Given the description of an element on the screen output the (x, y) to click on. 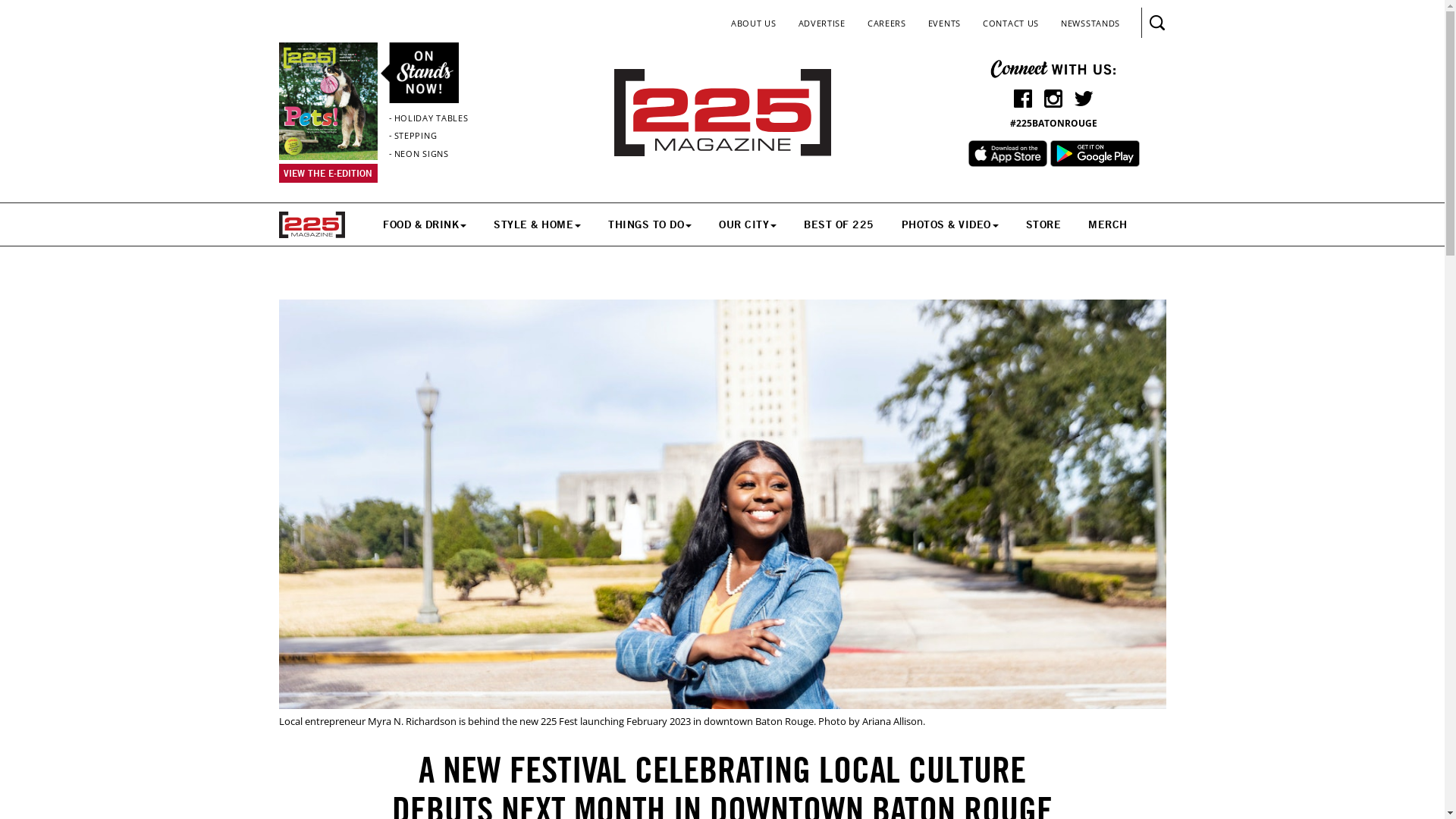
#225BATONROUGE Element type: text (1053, 122)
FOOD & DRINK Element type: text (424, 224)
NEWSSTANDS Element type: text (1090, 22)
NEON SIGNS Element type: text (421, 153)
MERCH Element type: text (1107, 224)
CONTACT US Element type: text (1010, 22)
THINGS TO DO Element type: text (649, 224)
CAREERS Element type: text (886, 22)
PHOTOS & VIDEO Element type: text (950, 224)
BEST OF 225 Element type: text (839, 224)
EVENTS Element type: text (944, 22)
STORE Element type: text (1043, 224)
ABOUT US Element type: text (753, 22)
ADVERTISE Element type: text (821, 22)
OUR CITY Element type: text (747, 224)
HOLIDAY TABLES Element type: text (431, 117)
STYLE & HOME Element type: text (537, 224)
STEPPING Element type: text (415, 135)
VIEW THE E-EDITION Element type: text (328, 172)
